Given the description of an element on the screen output the (x, y) to click on. 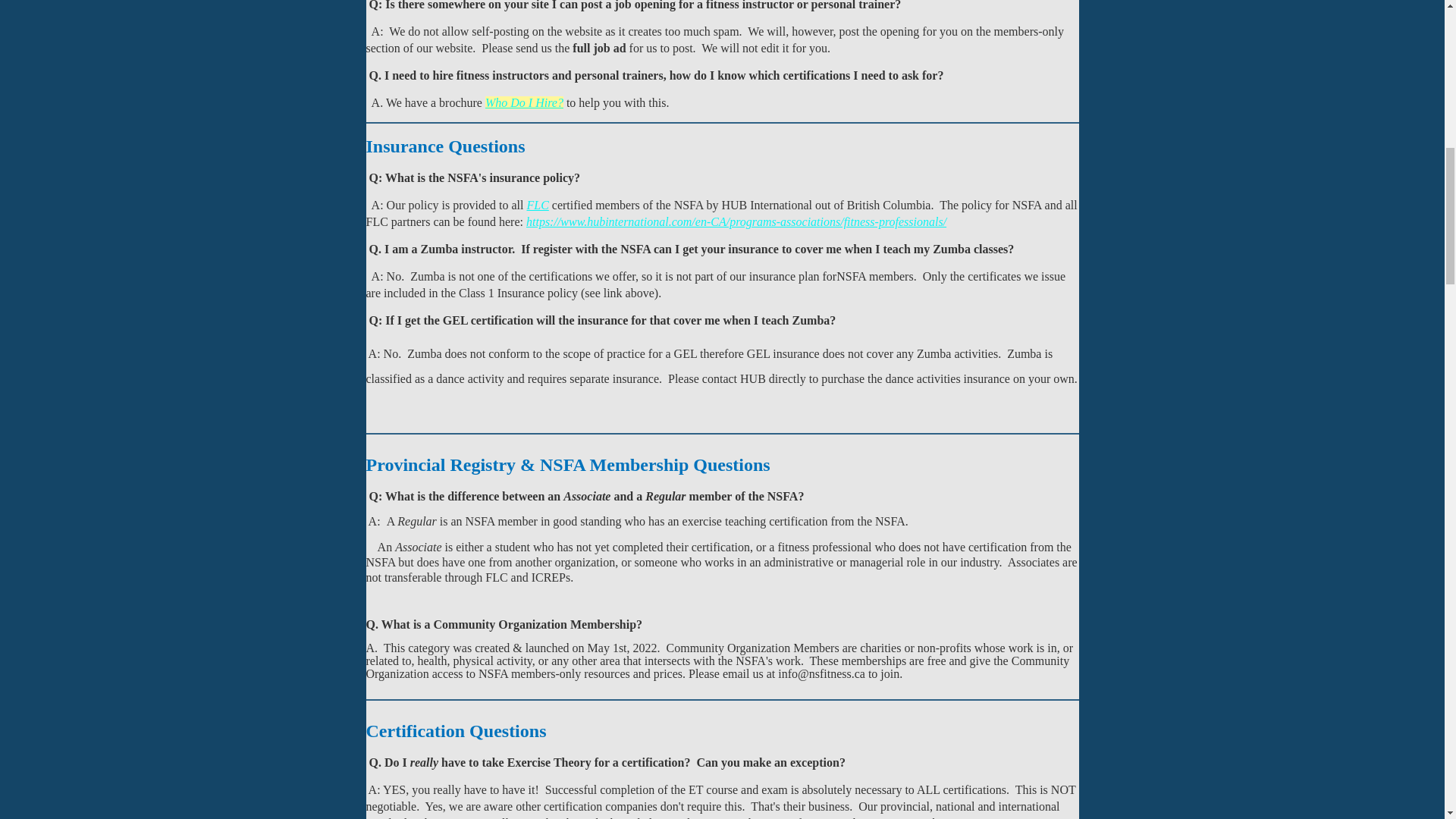
FLC (536, 205)
Who Do I Hire? (523, 102)
